Given the description of an element on the screen output the (x, y) to click on. 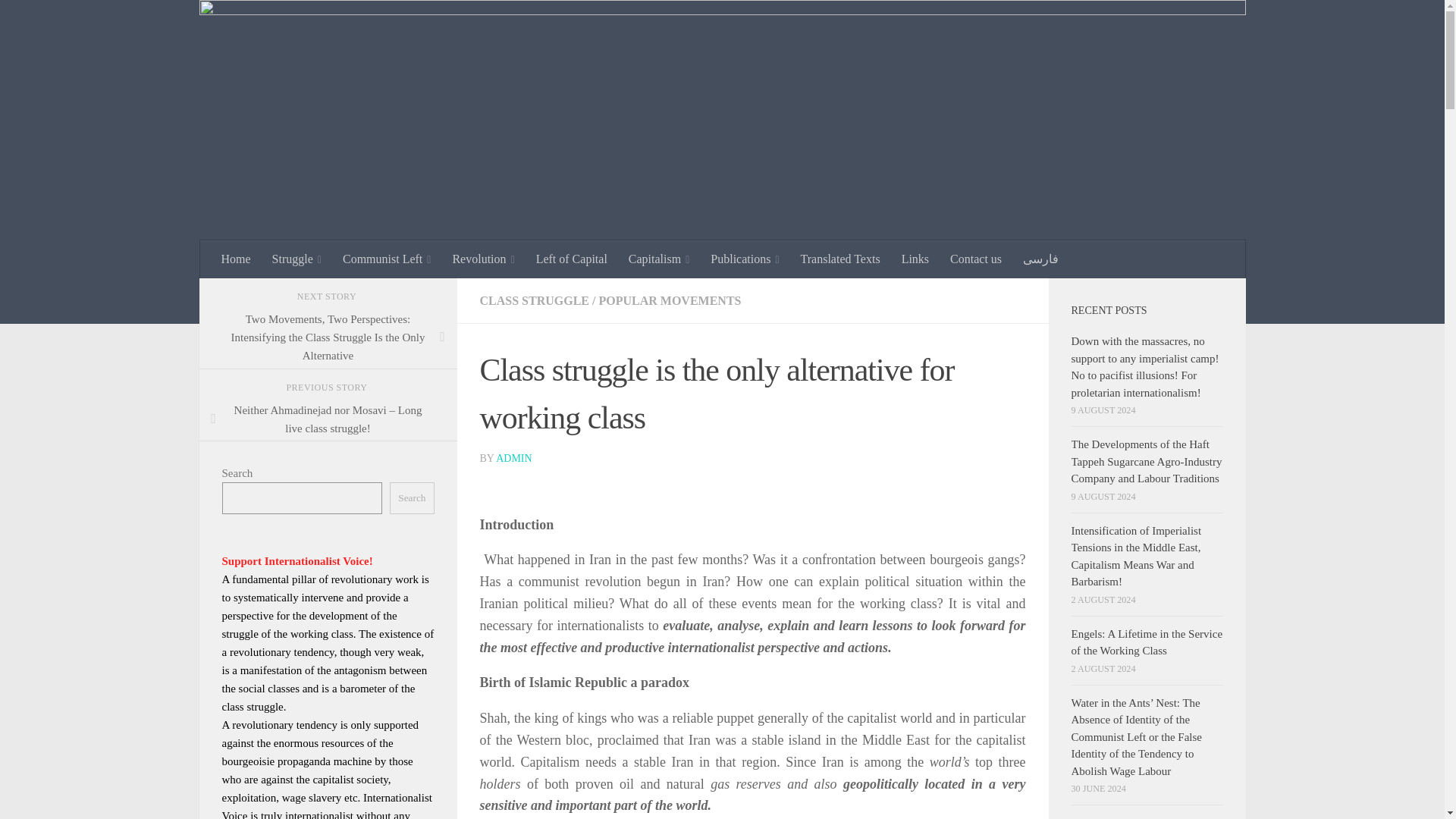
Posts by Admin (513, 458)
Struggle (296, 259)
Skip to content (59, 20)
Home (236, 259)
